Given the description of an element on the screen output the (x, y) to click on. 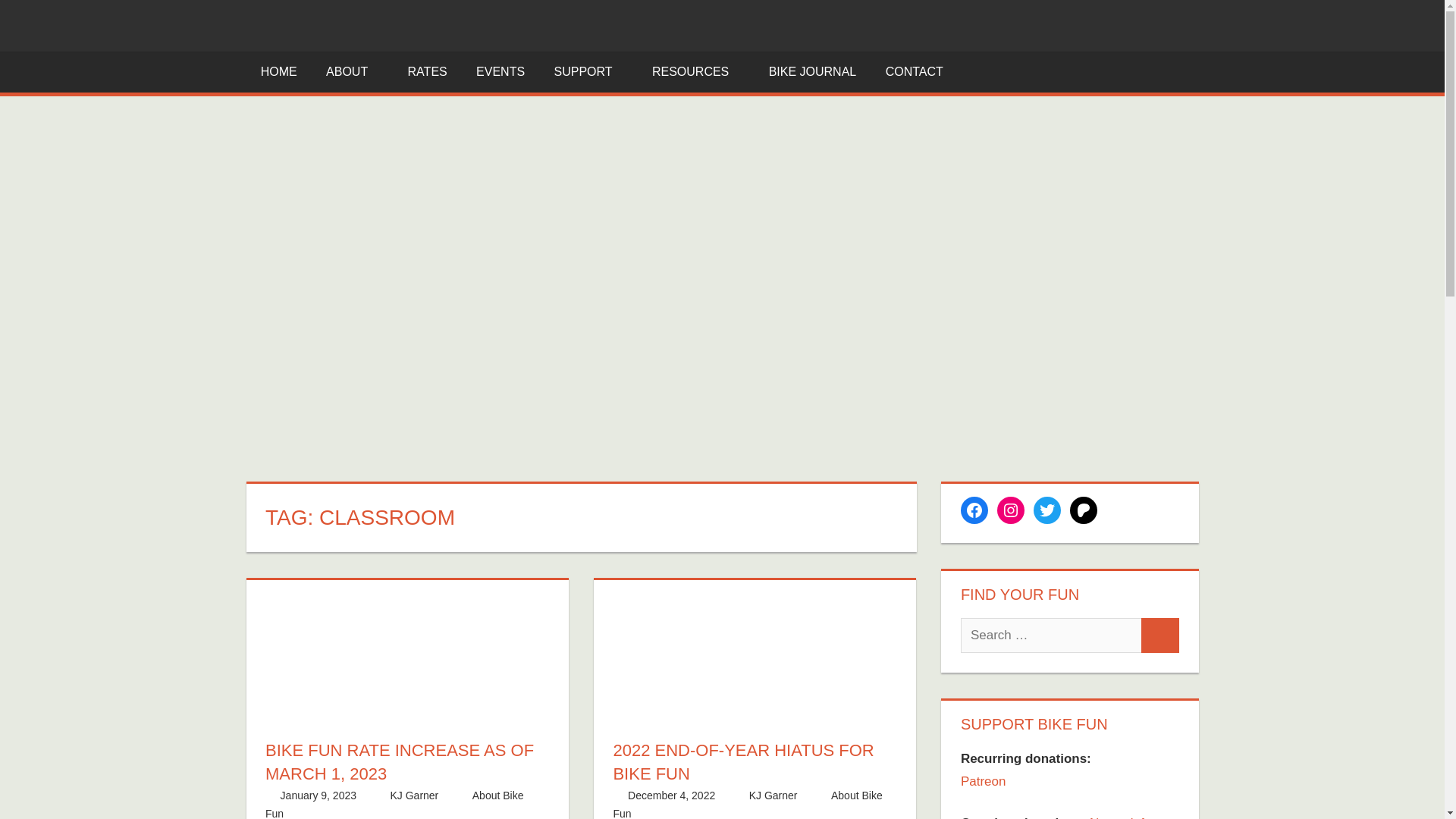
View all posts by KJ Garner (414, 795)
EVENTS (499, 71)
SUPPORT (587, 71)
RESOURCES (695, 71)
December 4, 2022 (670, 795)
BIKE JOURNAL (812, 71)
2022 END-OF-YEAR HIATUS FOR BIKE FUN (742, 761)
KJ Garner (773, 795)
9:00 am (670, 795)
CONTACT (919, 71)
